Given the description of an element on the screen output the (x, y) to click on. 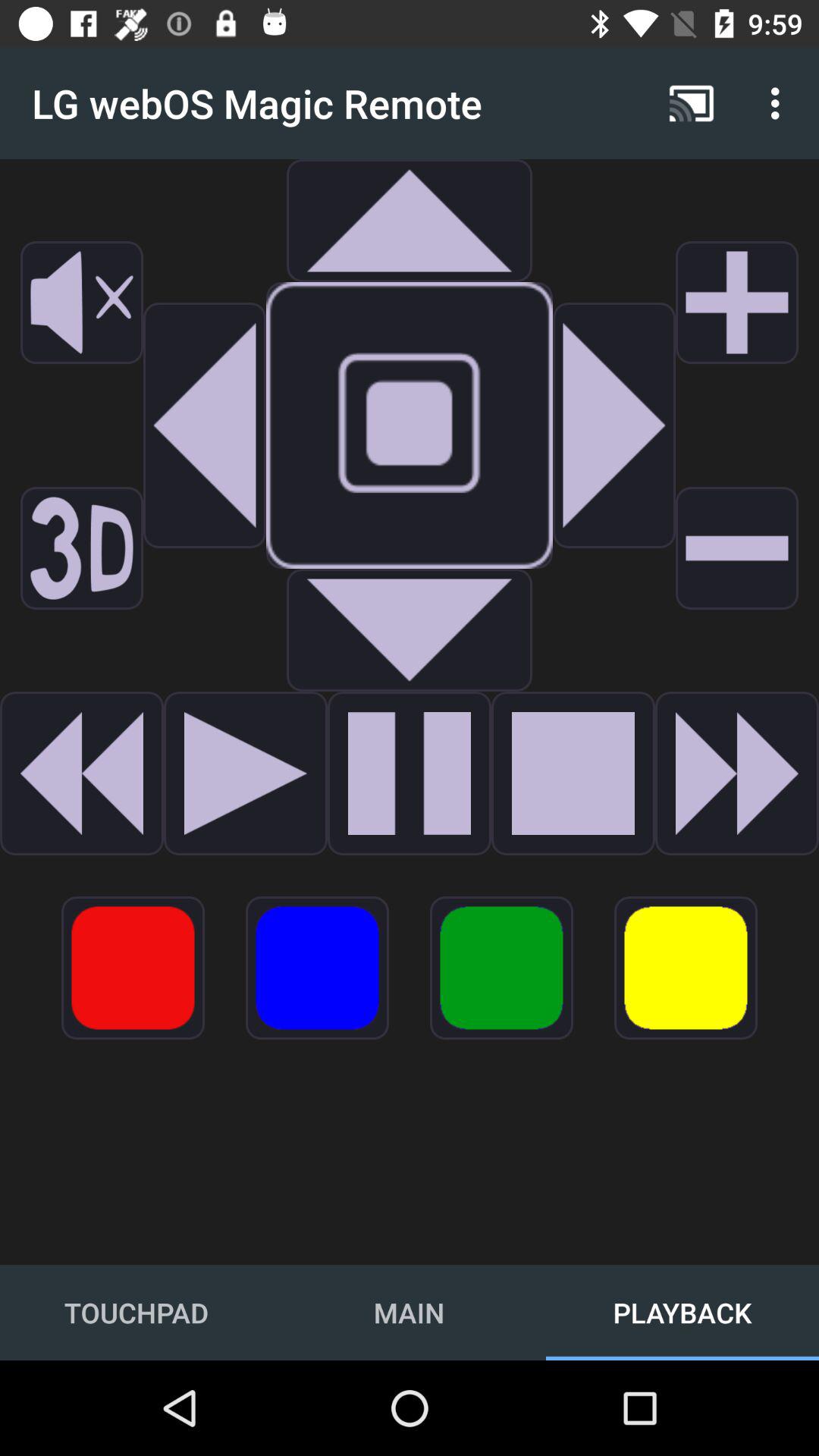
navigate to the left (204, 425)
